Given the description of an element on the screen output the (x, y) to click on. 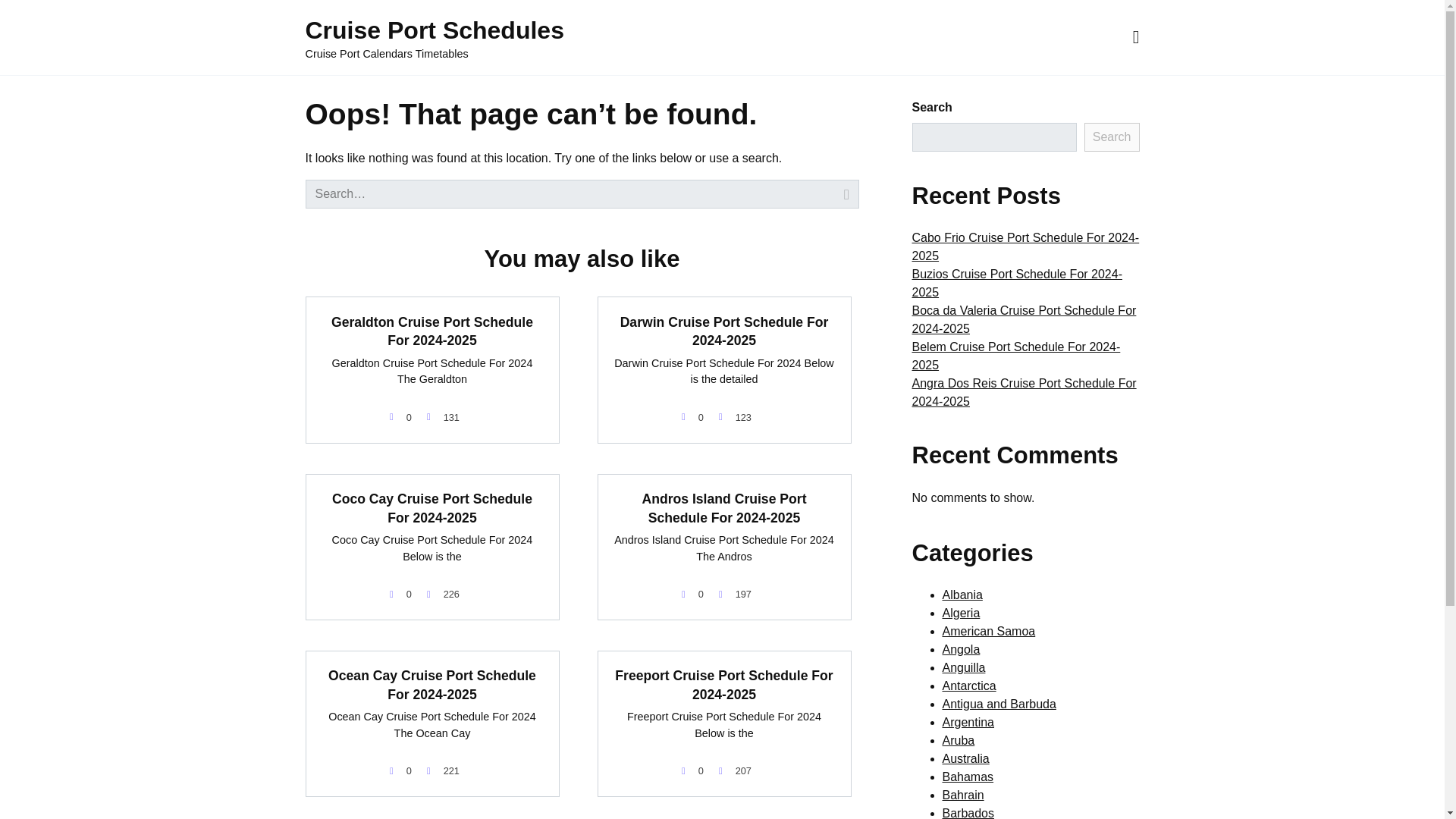
Geraldton Cruise Port Schedule For 2024-2025 (431, 330)
Algeria (960, 612)
Angra Dos Reis Cruise Port Schedule For 2024-2025 (1023, 391)
Antigua and Barbuda (998, 703)
Cruise Port Schedules (433, 30)
Albania (961, 594)
Boca da Valeria Cruise Port Schedule For 2024-2025 (1023, 318)
Argentina (968, 721)
Coco Cay Cruise Port Schedule For 2024-2025 (431, 507)
Search (1112, 136)
